Given the description of an element on the screen output the (x, y) to click on. 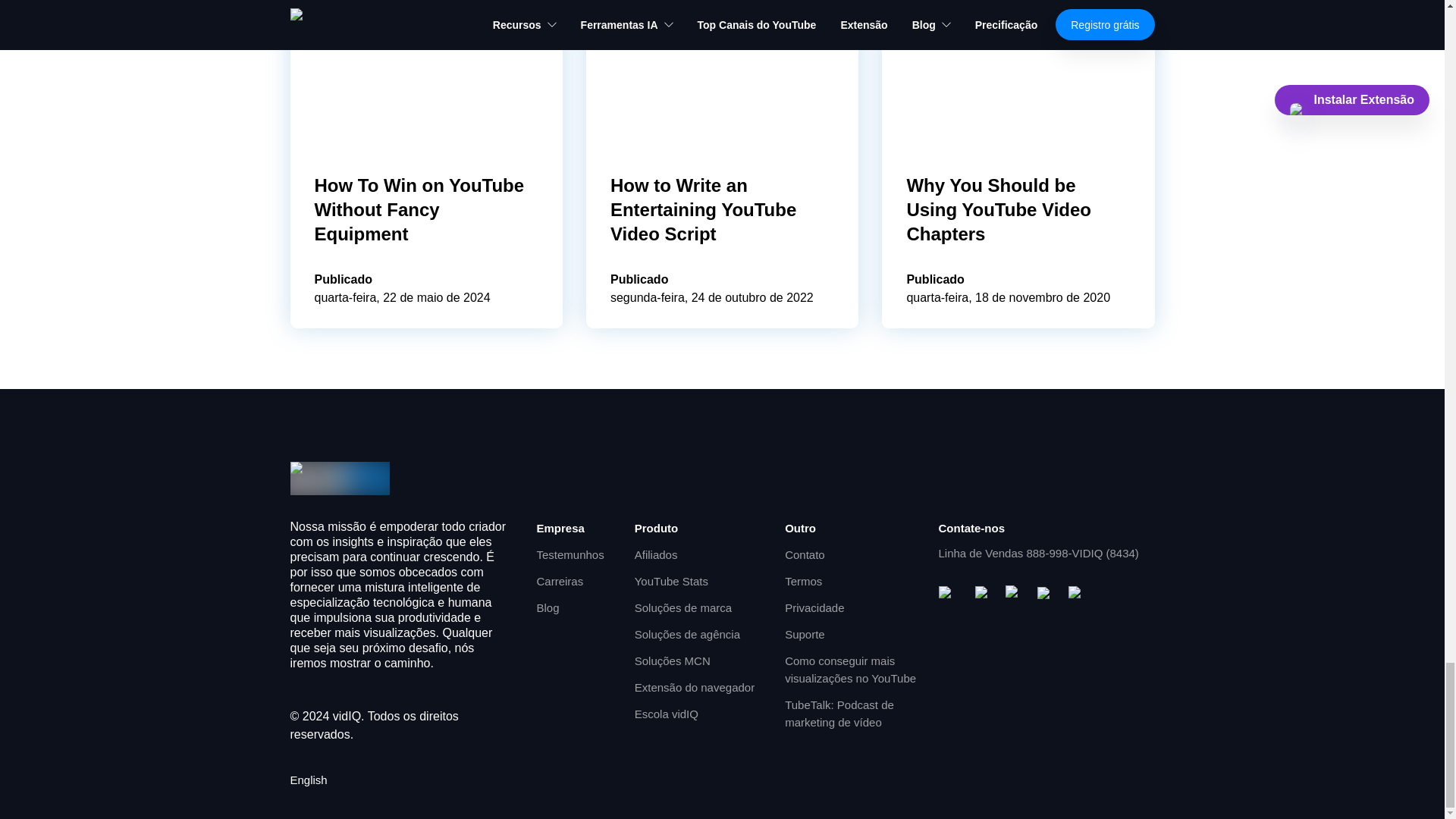
Twitter (1046, 594)
Instagram (1015, 595)
YouTube (950, 595)
Facebook (983, 595)
LinkedIn (1076, 594)
